Given the description of an element on the screen output the (x, y) to click on. 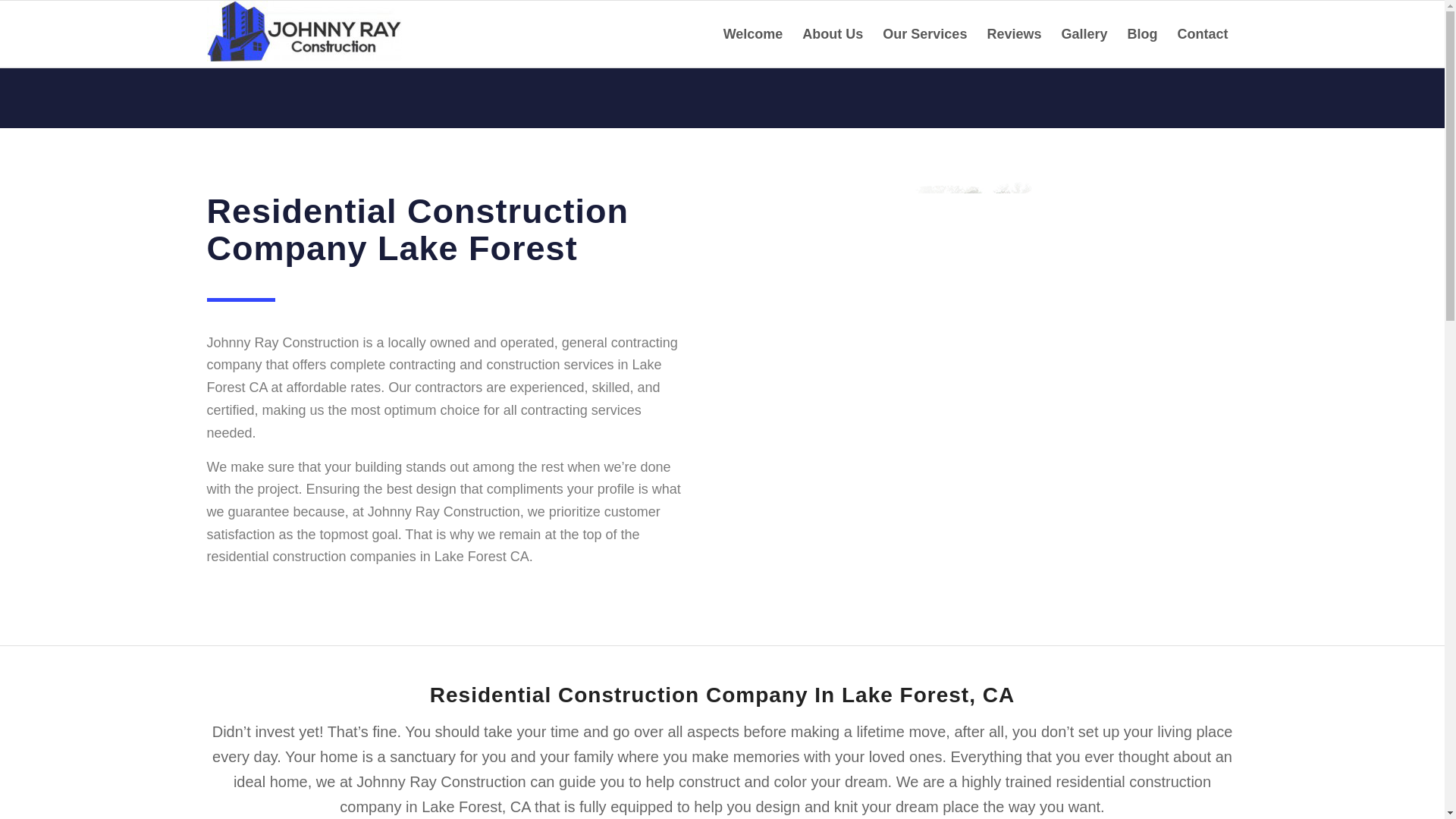
Our Services (924, 33)
Welcome (753, 33)
About Us (832, 33)
Contact (1203, 33)
Gallery (1083, 33)
Reviews (1013, 33)
